Given the description of an element on the screen output the (x, y) to click on. 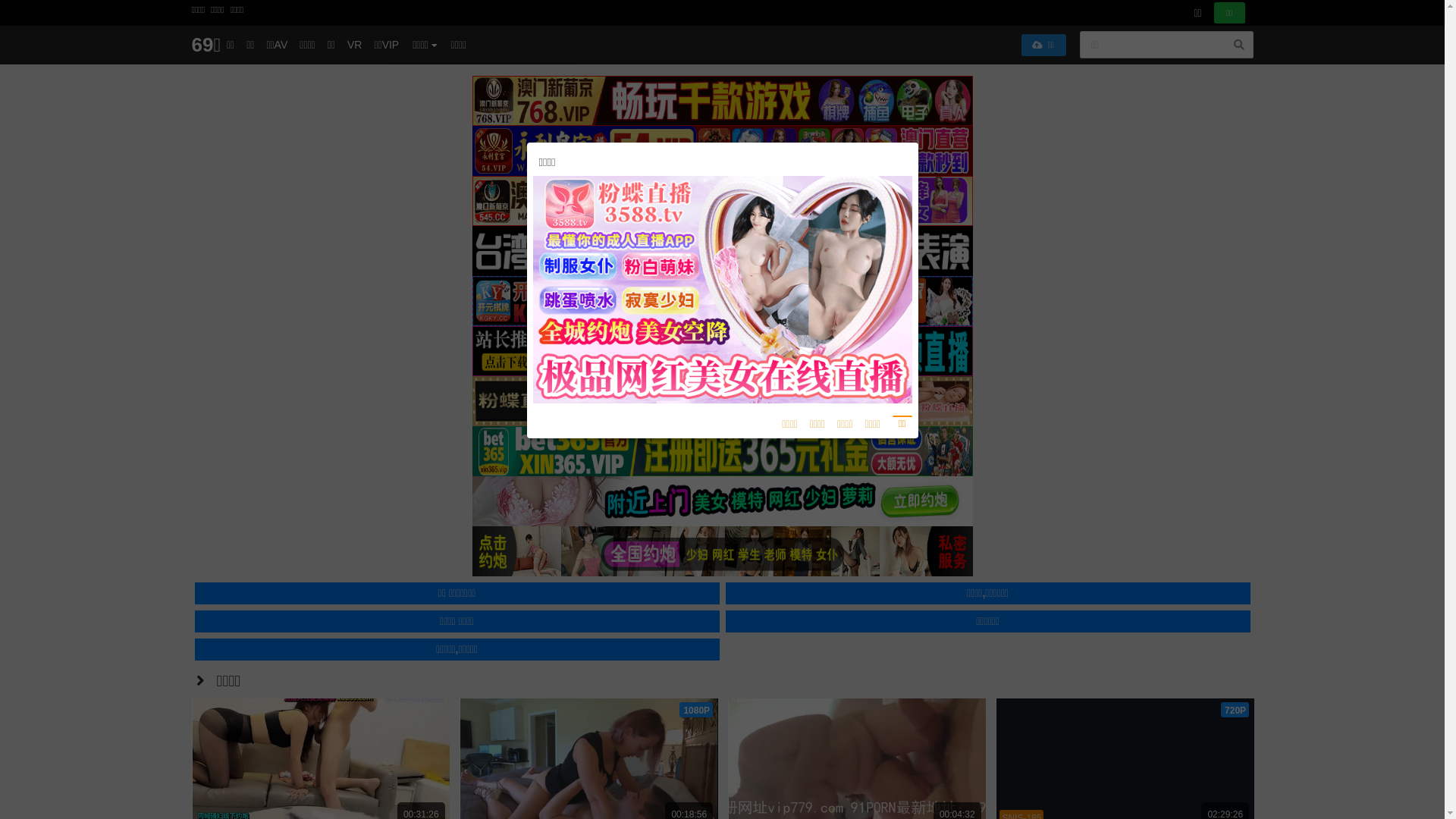
VR Element type: text (354, 44)
https://69se305.xyz Element type: text (722, 266)
https://69se304.xyz Element type: text (722, 288)
https://69se307.xyz Element type: text (722, 245)
https://69se296.xyz Element type: text (722, 351)
https://69se302.xyz Element type: text (722, 330)
https://69se294.xyz Element type: text (722, 373)
https://69se303.xyz Element type: text (722, 309)
